Given the description of an element on the screen output the (x, y) to click on. 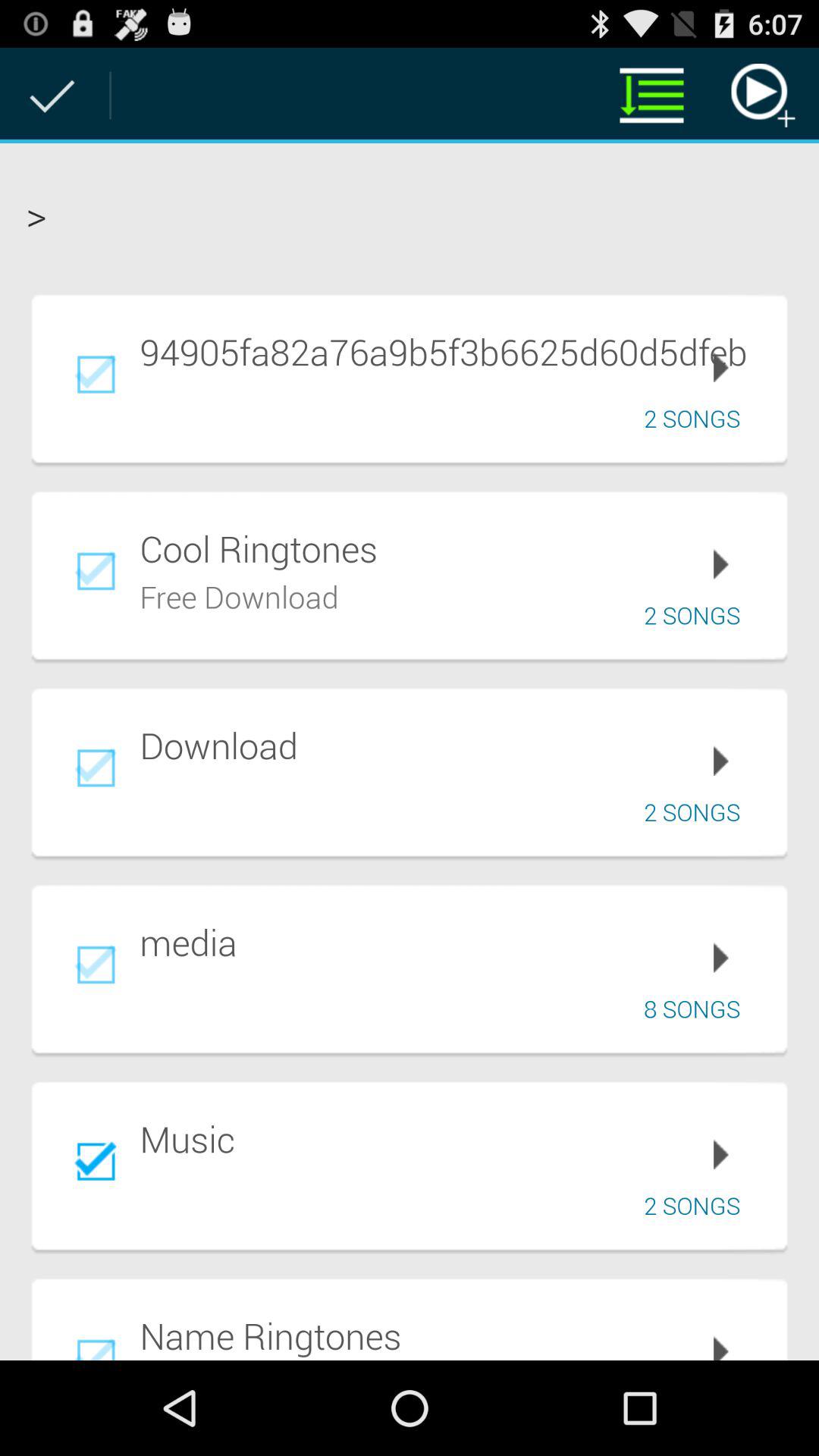
turn on app below the 2 songs icon (452, 941)
